Given the description of an element on the screen output the (x, y) to click on. 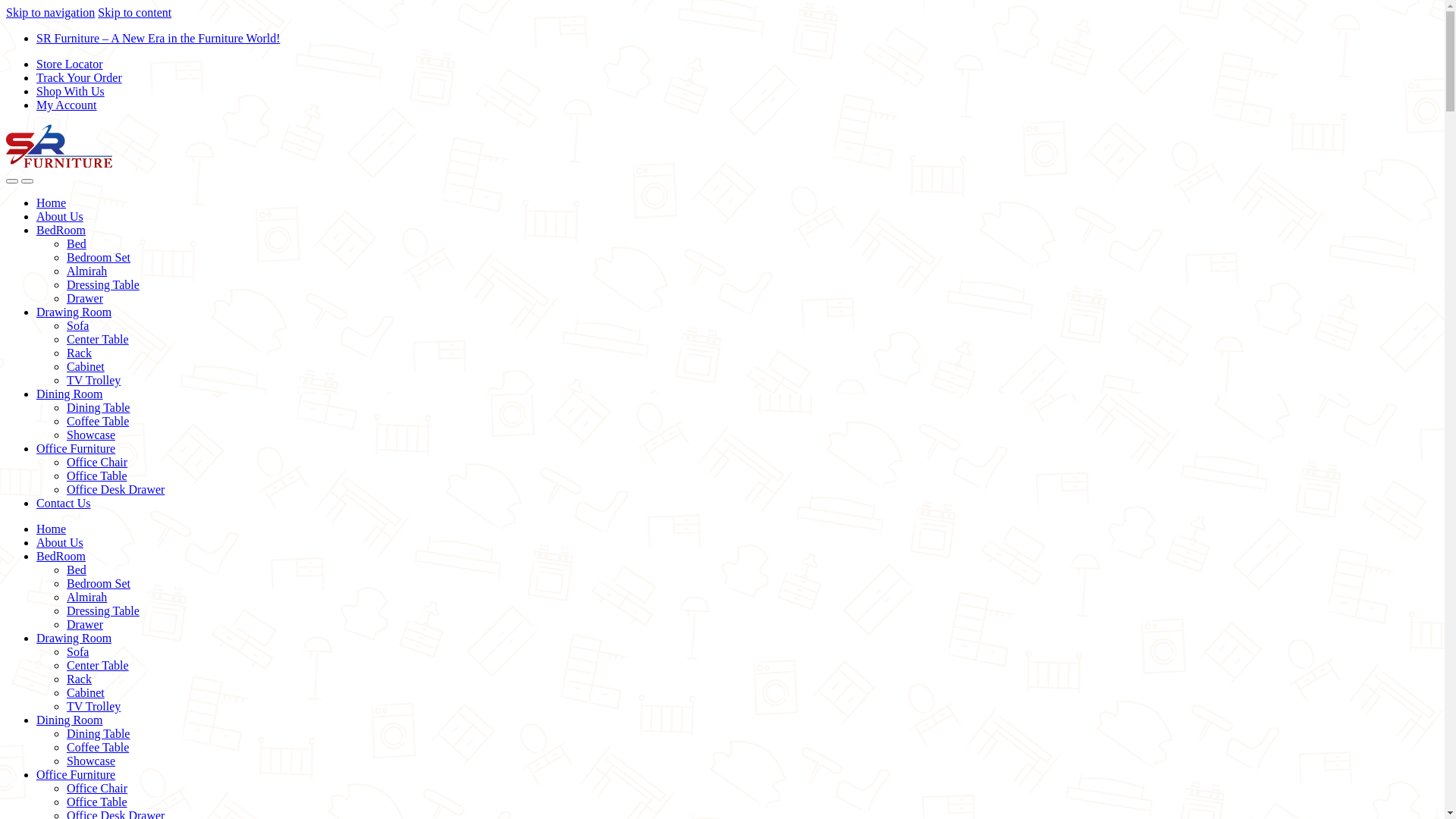
Drawing Room Element type: text (73, 637)
Skip to navigation Element type: text (50, 12)
Drawer Element type: text (84, 624)
Office Furniture Element type: text (75, 774)
Coffee Table Element type: text (97, 420)
Showcase Element type: text (90, 760)
Contact Us Element type: text (63, 502)
Bed Element type: text (76, 243)
Rack Element type: text (78, 678)
TV Trolley Element type: text (93, 379)
Showcase Element type: text (90, 434)
Office Chair Element type: text (96, 787)
Sofa Element type: text (77, 325)
BedRoom Element type: text (60, 555)
Home Element type: text (50, 202)
Bedroom Set Element type: text (98, 257)
Dining Room Element type: text (69, 719)
Dressing Table Element type: text (102, 284)
Track Your Order Element type: text (79, 77)
TV Trolley Element type: text (93, 705)
Bedroom Set Element type: text (98, 583)
Almirah Element type: text (86, 270)
Office Table Element type: text (96, 475)
Drawing Room Element type: text (73, 311)
BedRoom Element type: text (60, 229)
Center Table Element type: text (97, 664)
Cabinet Element type: text (85, 692)
Almirah Element type: text (86, 596)
Bed Element type: text (76, 569)
Sofa Element type: text (77, 651)
Office Chair Element type: text (96, 461)
Shop With Us Element type: text (70, 90)
Drawer Element type: text (84, 297)
Dressing Table Element type: text (102, 610)
My Account Element type: text (66, 104)
Office Table Element type: text (96, 801)
About Us Element type: text (59, 542)
About Us Element type: text (59, 216)
Cabinet Element type: text (85, 366)
Dining Table Element type: text (97, 733)
Office Desk Drawer Element type: text (115, 489)
Rack Element type: text (78, 352)
Store Locator Element type: text (69, 63)
Dining Table Element type: text (97, 407)
Home Element type: text (50, 528)
Skip to content Element type: text (134, 12)
Dining Room Element type: text (69, 393)
Coffee Table Element type: text (97, 746)
Office Furniture Element type: text (75, 448)
Center Table Element type: text (97, 338)
